Given the description of an element on the screen output the (x, y) to click on. 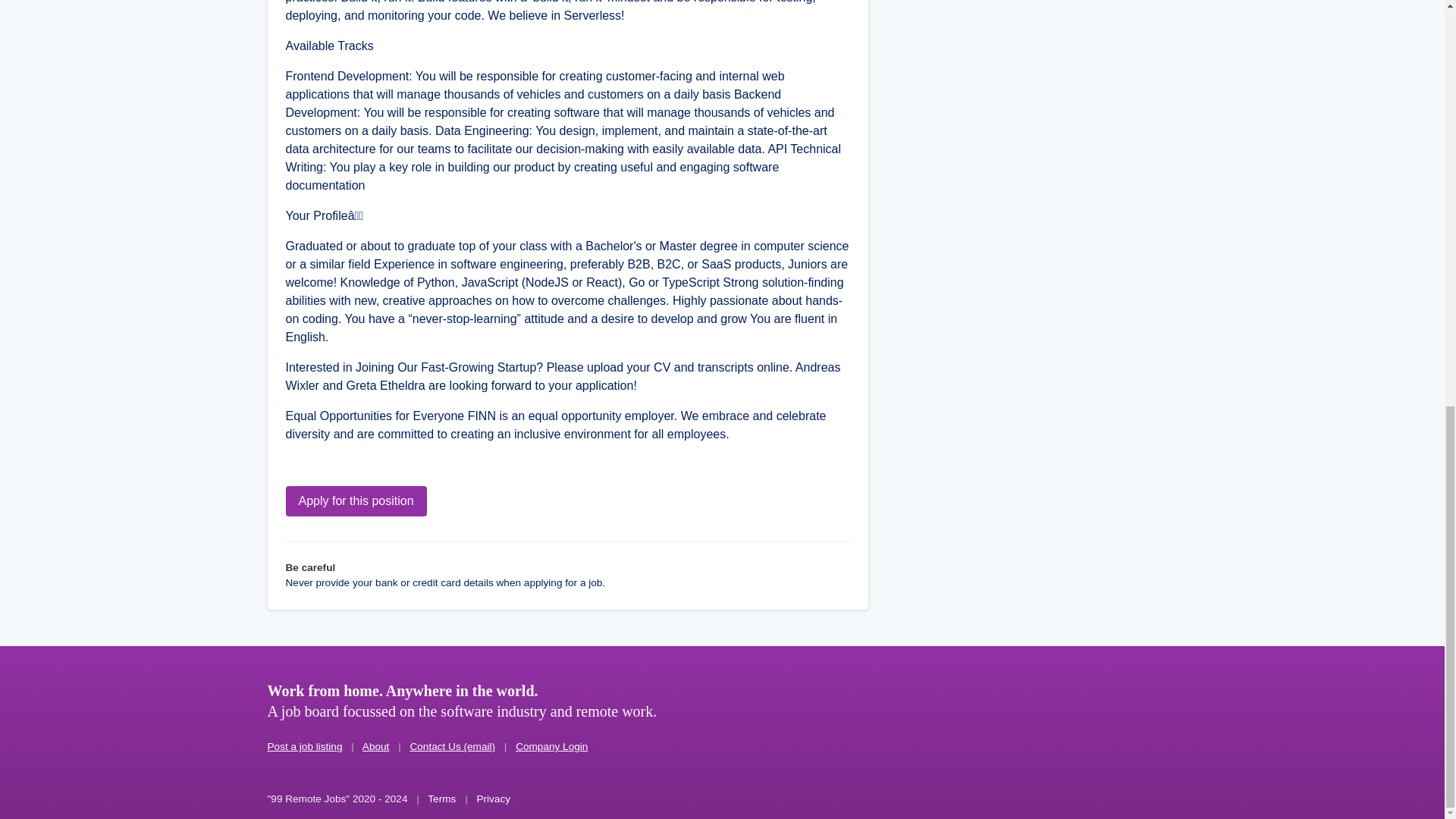
Post a job listing (304, 746)
Company Login (551, 746)
Privacy (493, 798)
Terms (441, 798)
About (376, 746)
Apply for this position (355, 501)
